Given the description of an element on the screen output the (x, y) to click on. 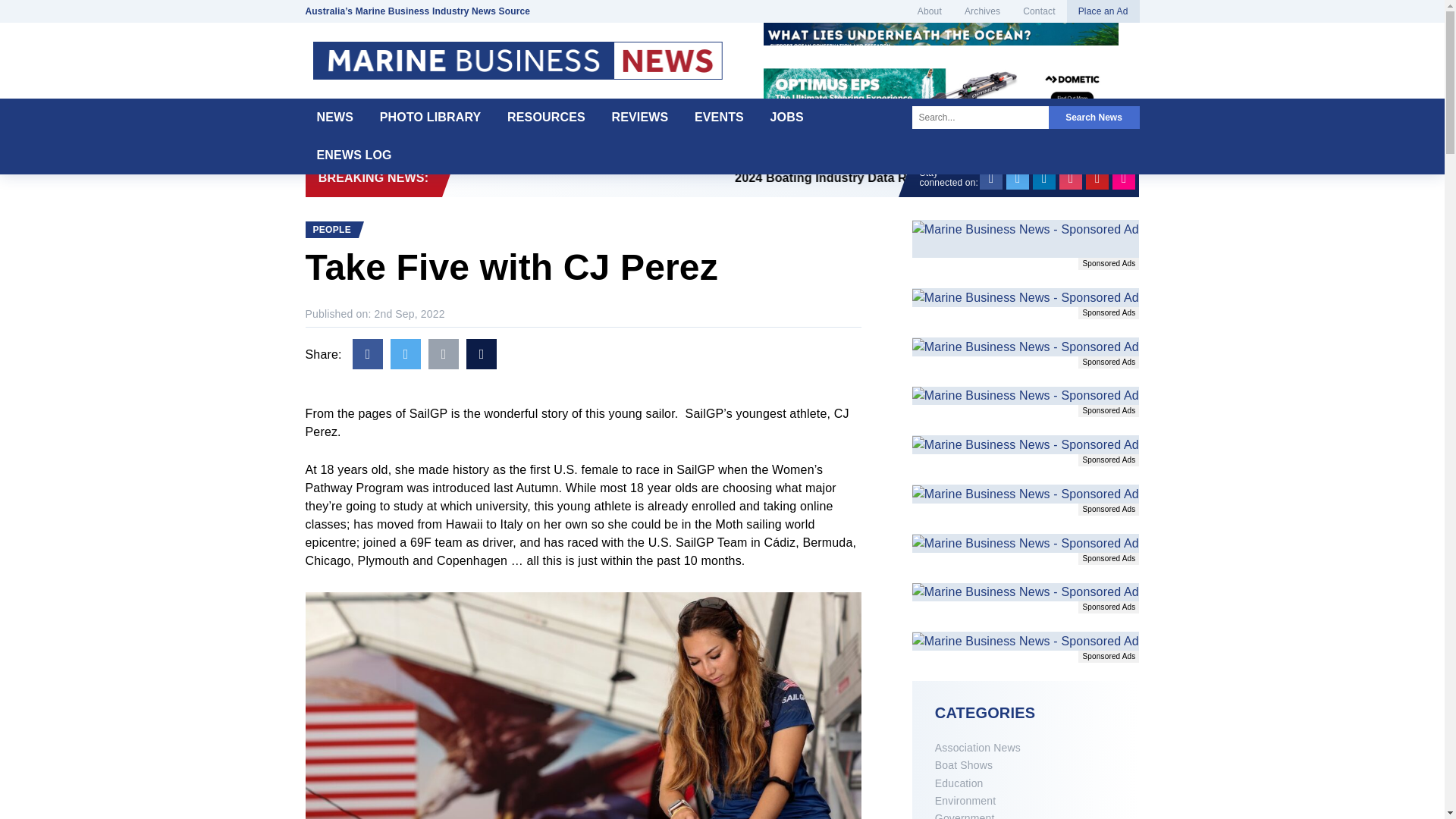
REVIEWS (639, 117)
Share on Twitter (405, 354)
PHOTO LIBRARY (430, 117)
ENEWS LOG (353, 155)
Print (480, 354)
2024 Boating Industry Data Report Card Released (1107, 177)
About (929, 11)
Archives (982, 11)
Contact (1038, 11)
Share on Facebook (367, 354)
RESOURCES (546, 117)
Share with Email (443, 354)
JOBS (786, 117)
NEWS (334, 117)
Search News (1093, 117)
